Given the description of an element on the screen output the (x, y) to click on. 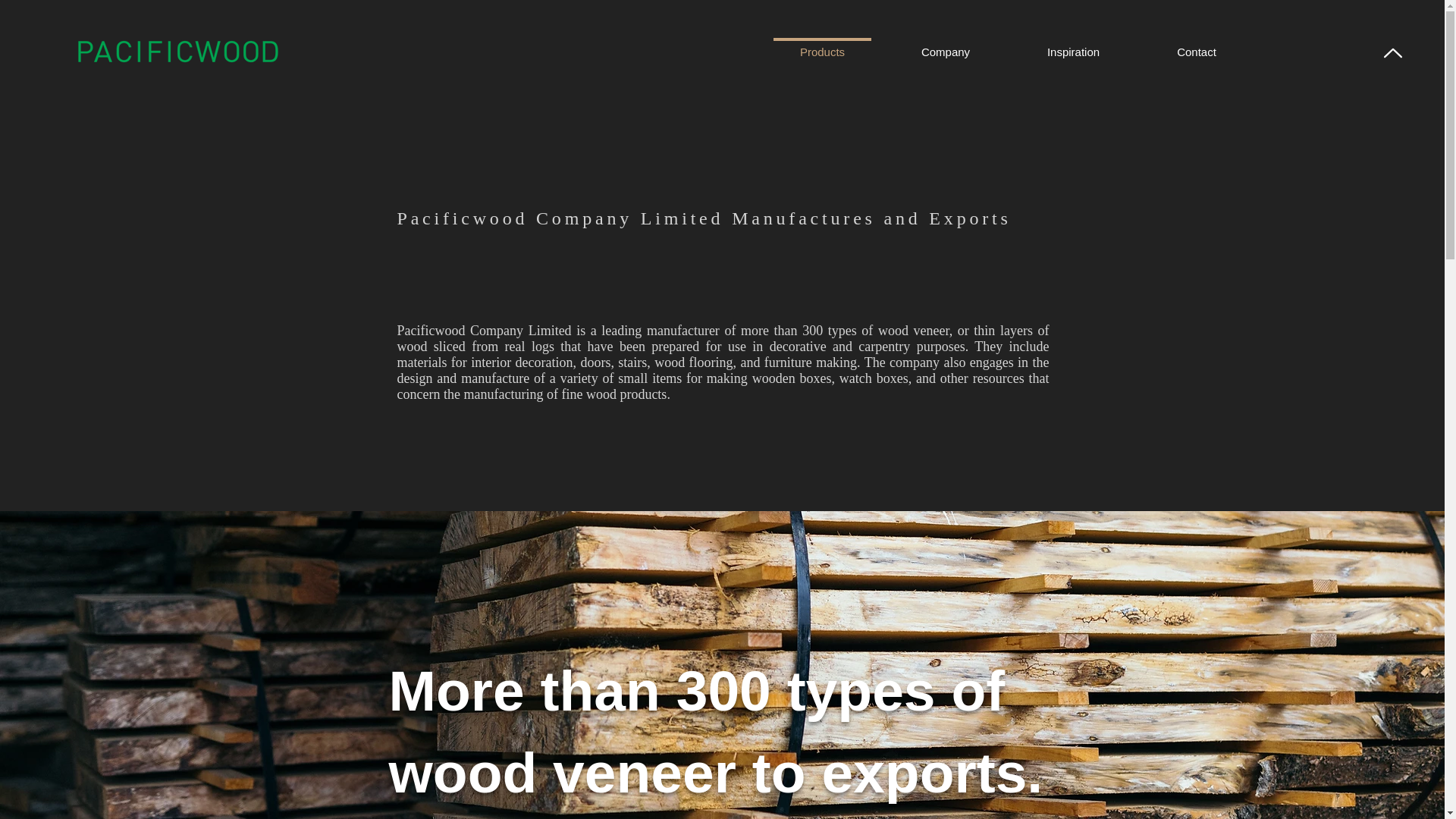
Inspiration (1073, 45)
Company (945, 45)
Contact (1196, 45)
Products (821, 45)
